Given the description of an element on the screen output the (x, y) to click on. 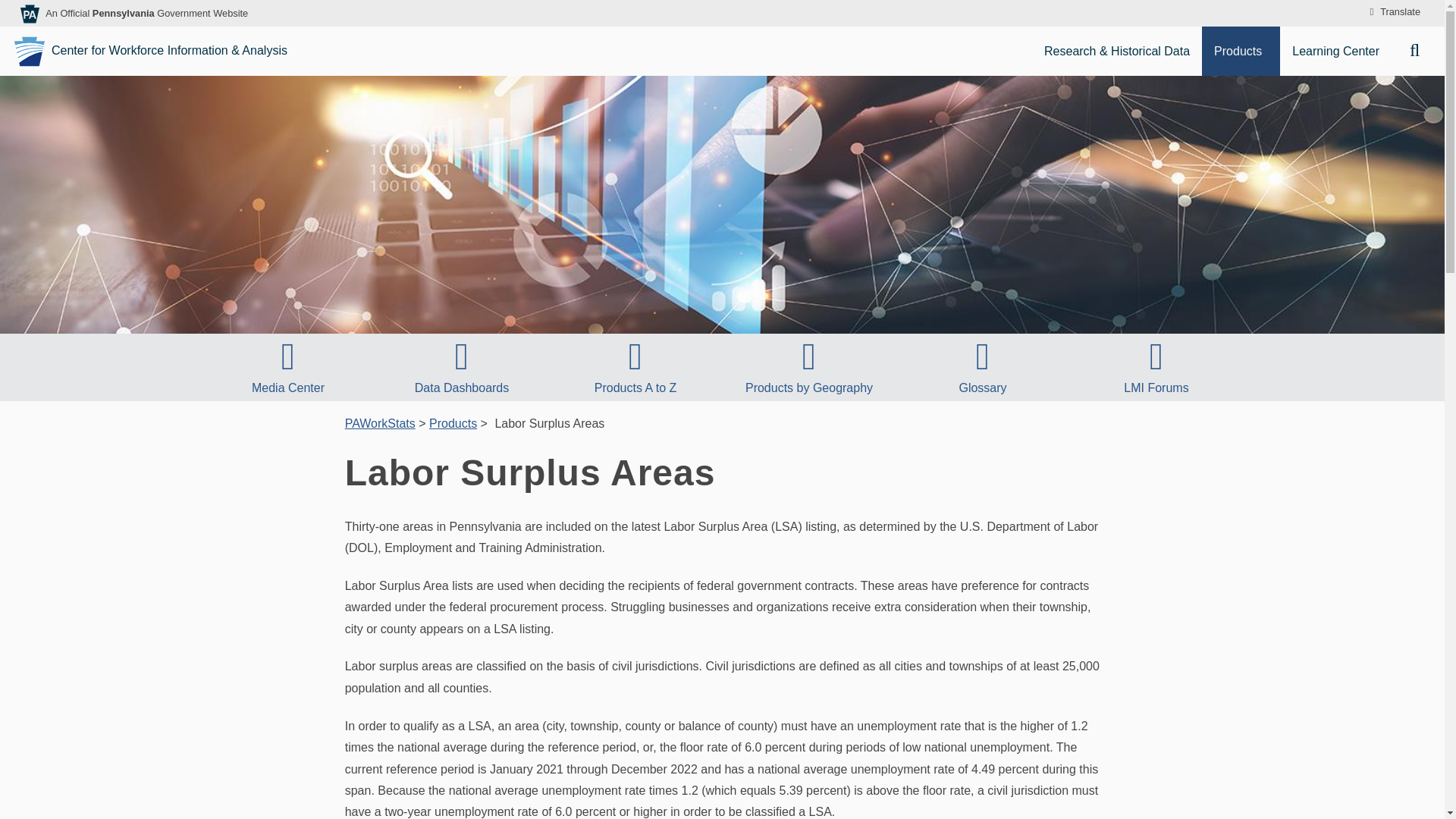
Learning Center (1338, 51)
Translate (1393, 12)
Products (1240, 51)
An Official Pennsylvania Government Website (146, 11)
Search (1420, 51)
